Given the description of an element on the screen output the (x, y) to click on. 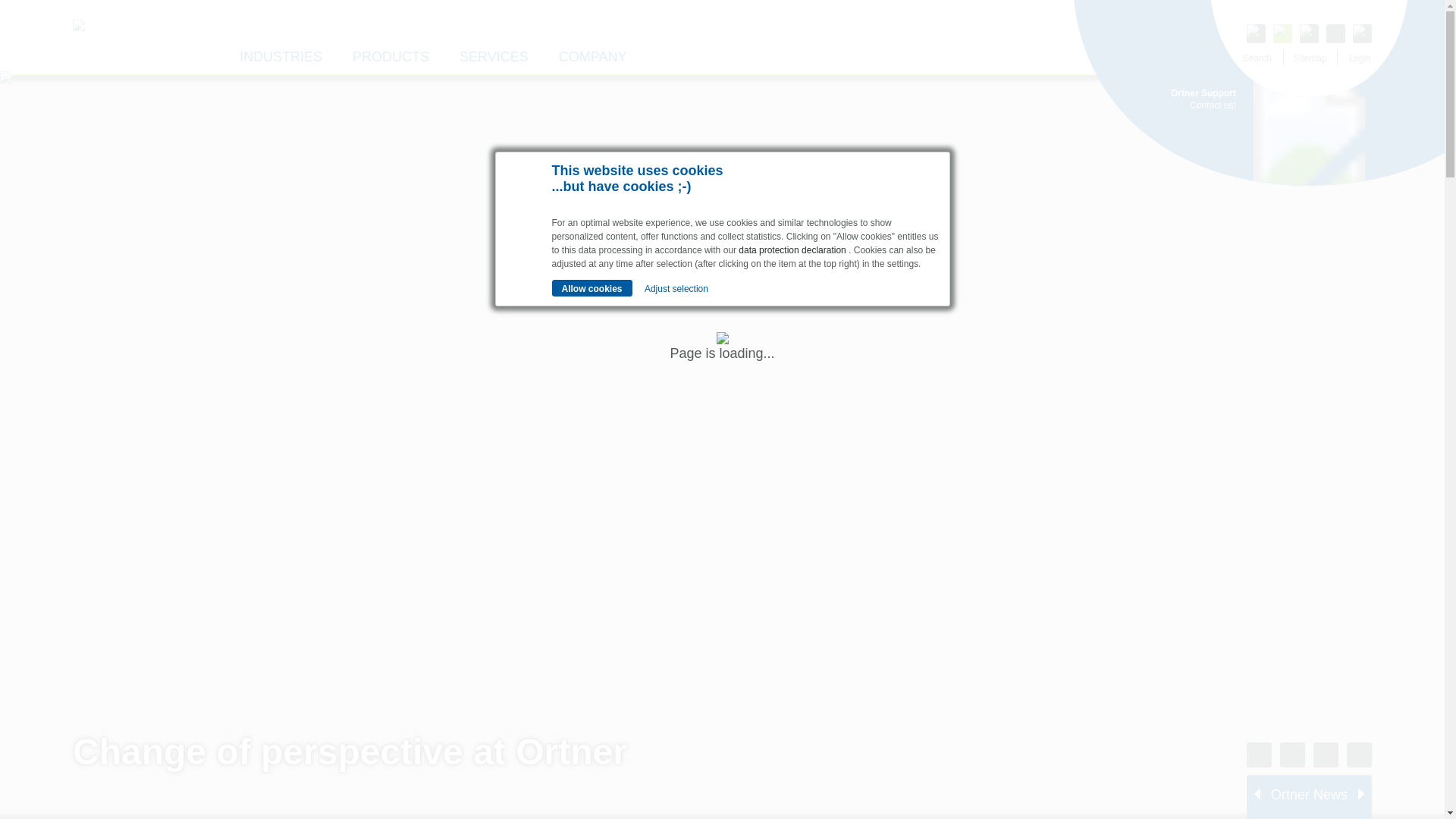
Cookie settings (679, 236)
Adjust selection (675, 288)
Send (1060, 525)
Homepage (140, 38)
Cookie settings (679, 236)
Allow selection (594, 473)
Subscribe (1060, 314)
Allow cookies (591, 288)
Allow cookies (591, 288)
Homepage (140, 38)
